Given the description of an element on the screen output the (x, y) to click on. 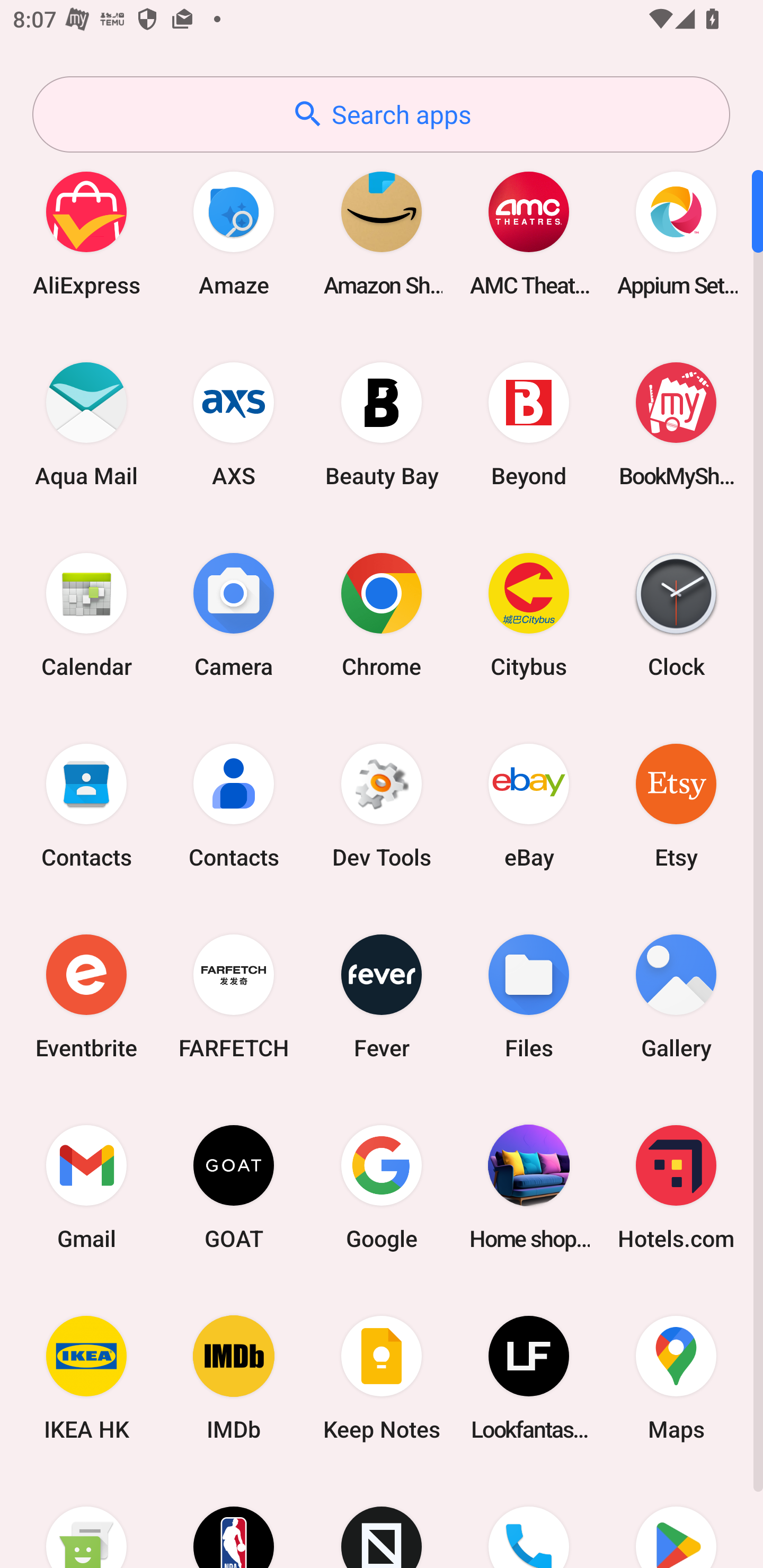
  Search apps (381, 114)
AliExpress (86, 233)
Amaze (233, 233)
Amazon Shopping (381, 233)
AMC Theatres (528, 233)
Appium Settings (676, 233)
Aqua Mail (86, 424)
AXS (233, 424)
Beauty Bay (381, 424)
Beyond (528, 424)
BookMyShow (676, 424)
Calendar (86, 614)
Camera (233, 614)
Chrome (381, 614)
Citybus (528, 614)
Clock (676, 614)
Contacts (86, 805)
Contacts (233, 805)
Dev Tools (381, 805)
eBay (528, 805)
Etsy (676, 805)
Eventbrite (86, 996)
FARFETCH (233, 996)
Fever (381, 996)
Files (528, 996)
Gallery (676, 996)
Gmail (86, 1186)
GOAT (233, 1186)
Google (381, 1186)
Home shopping (528, 1186)
Hotels.com (676, 1186)
IKEA HK (86, 1377)
IMDb (233, 1377)
Keep Notes (381, 1377)
Lookfantastic (528, 1377)
Maps (676, 1377)
Messaging (86, 1520)
NBA (233, 1520)
Novelship (381, 1520)
Phone (528, 1520)
Play Store (676, 1520)
